Given the description of an element on the screen output the (x, y) to click on. 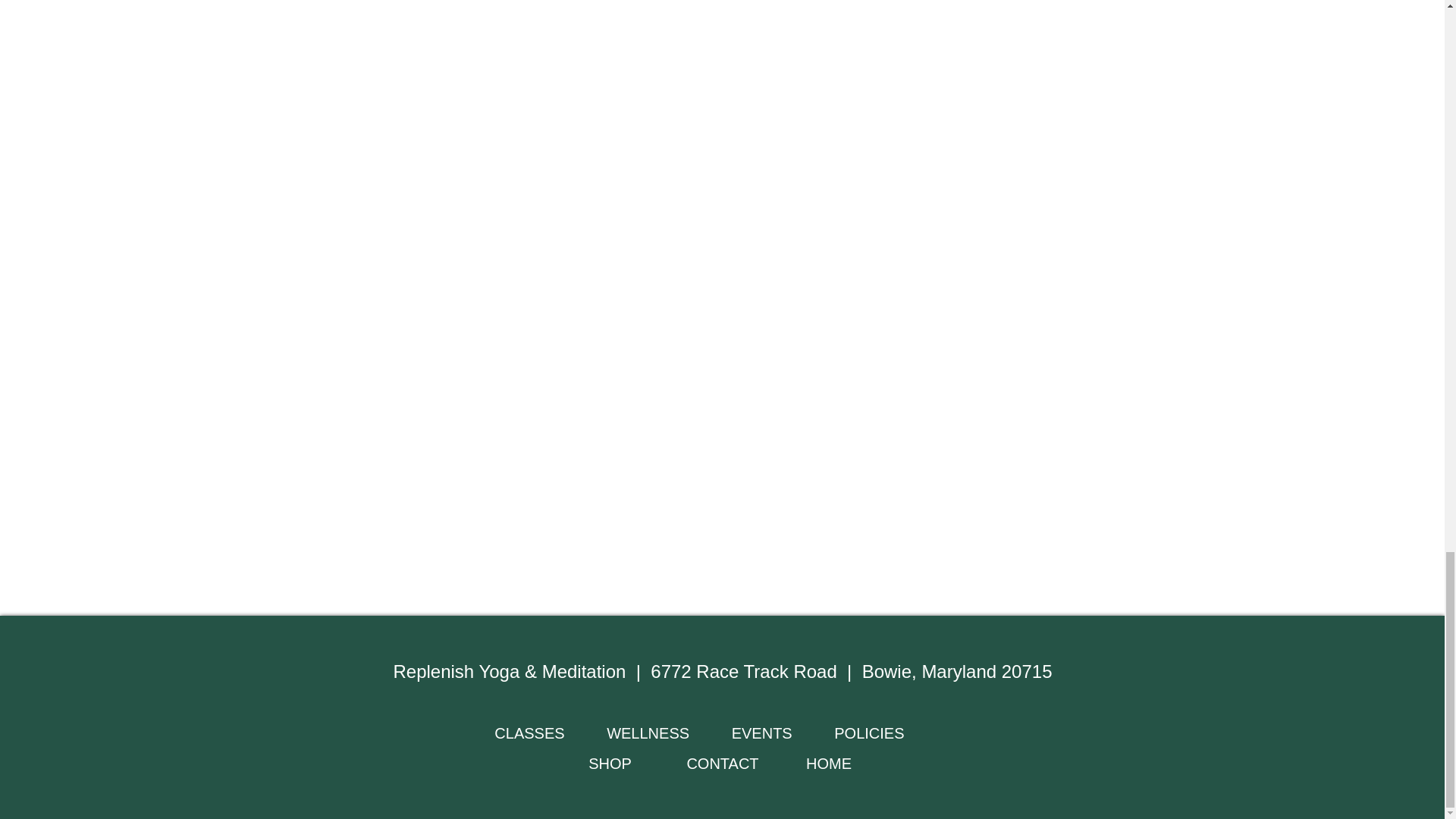
HOME (828, 763)
POLICIES (869, 733)
EVENTS           (783, 733)
SHOP (609, 763)
CLASSES  (532, 733)
CONTACT (721, 763)
WELLNESS (647, 733)
